Given the description of an element on the screen output the (x, y) to click on. 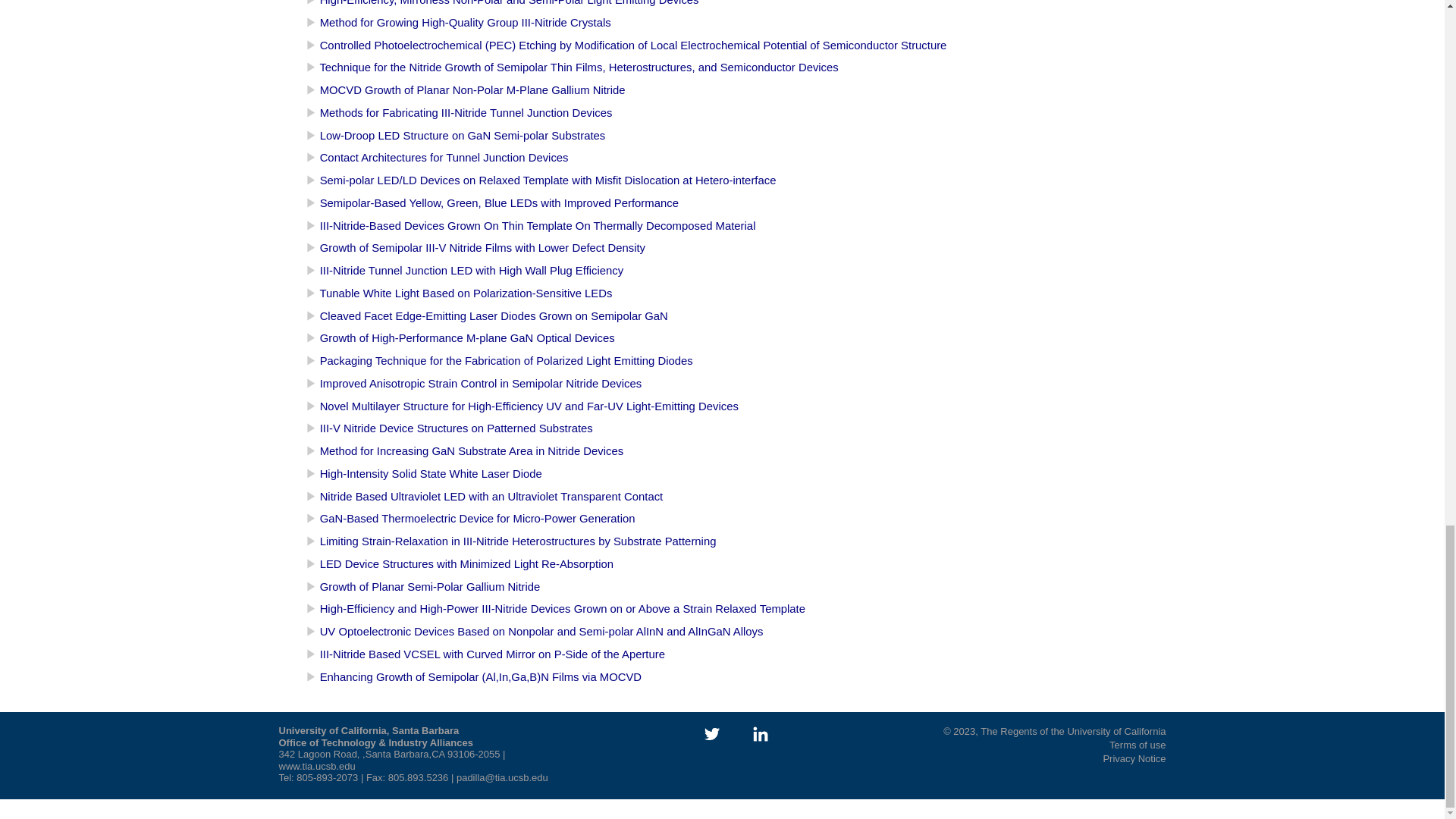
Method for Growing High-Quality Group III-Nitride Crystals (465, 22)
